Given the description of an element on the screen output the (x, y) to click on. 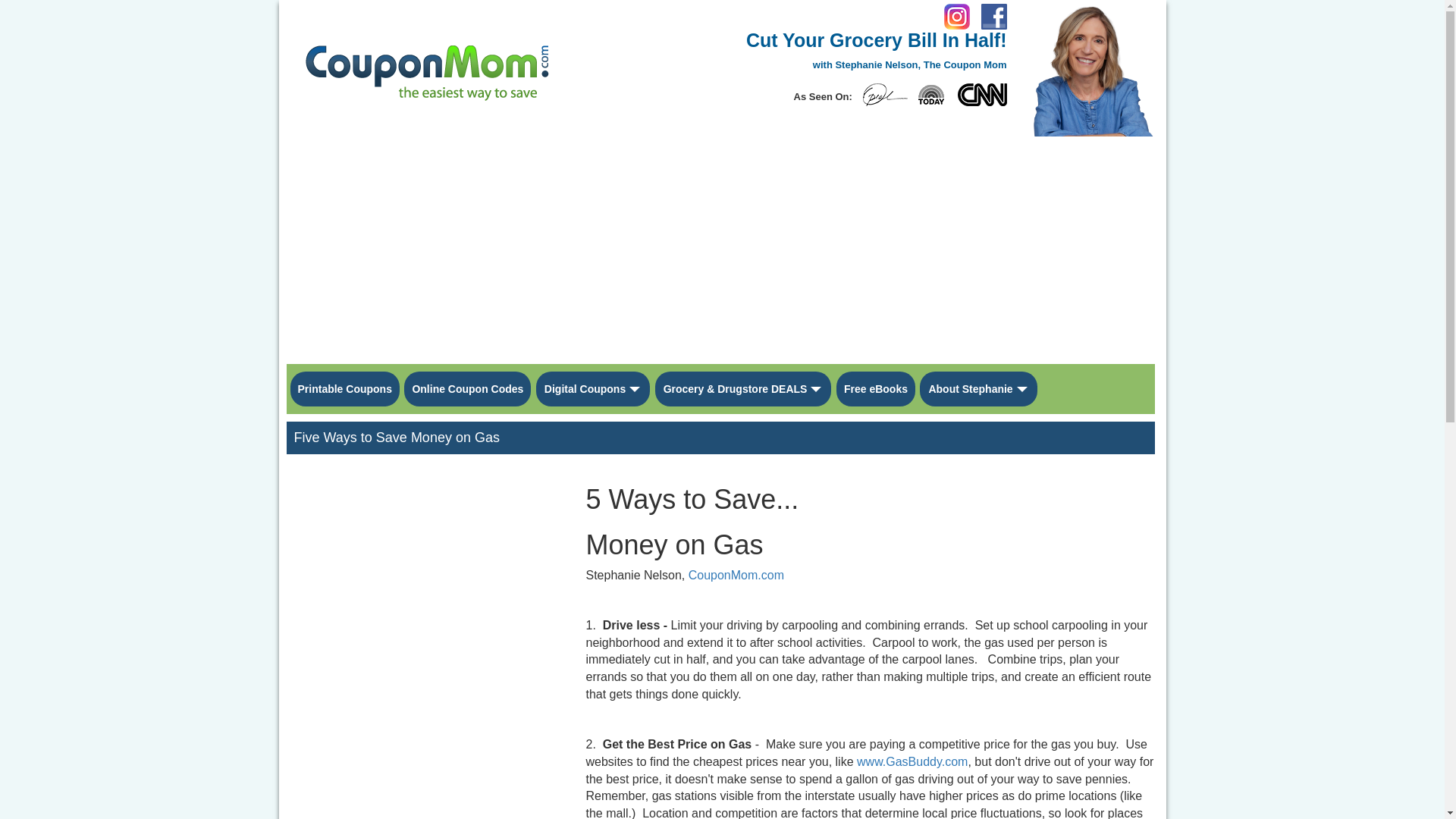
Advertisement (365, 644)
Advertisement (486, 644)
